Given the description of an element on the screen output the (x, y) to click on. 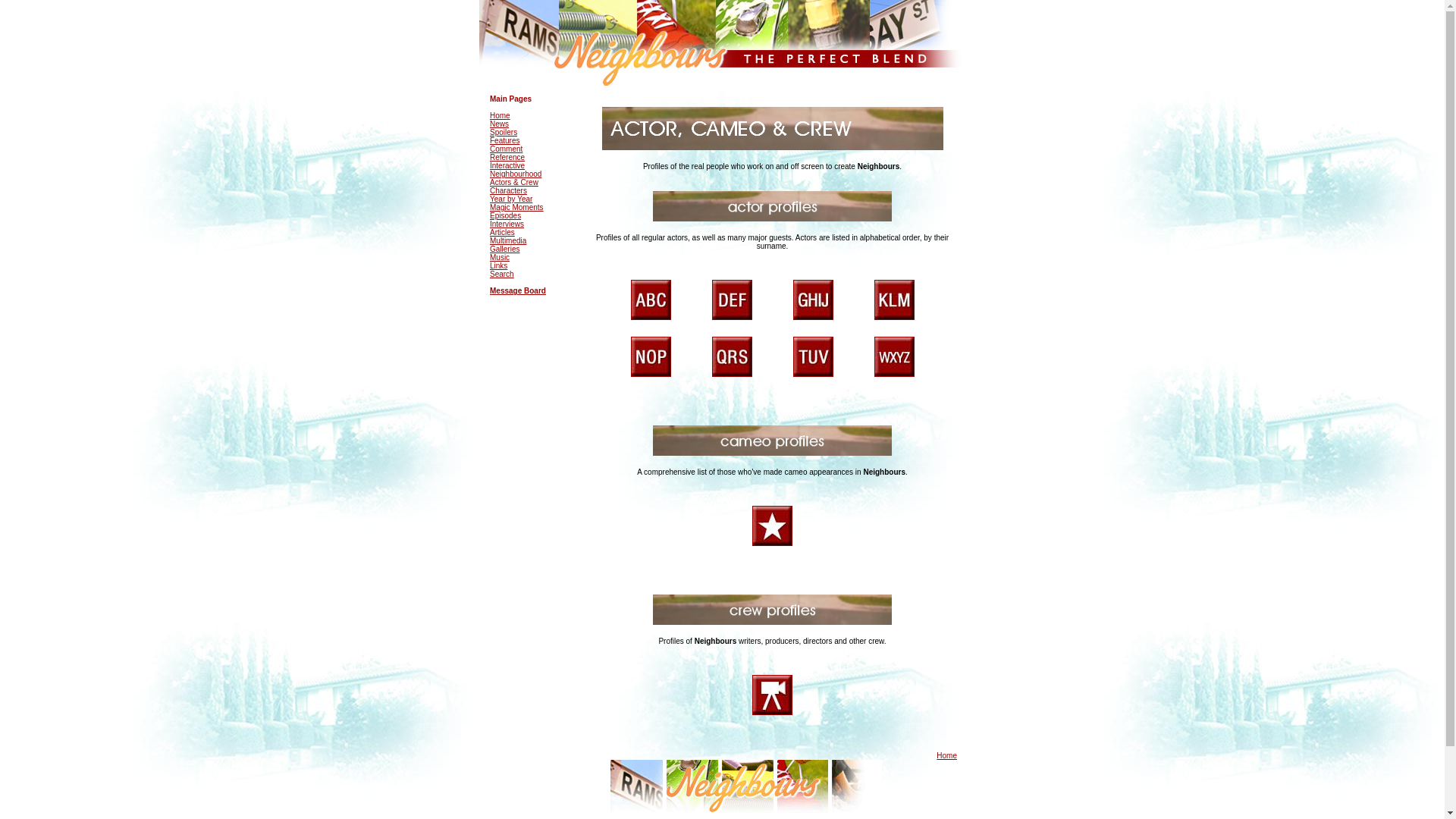
Message Board (517, 290)
Magic Moments (516, 207)
Music (499, 257)
Home (500, 115)
Articles (502, 232)
Search (501, 274)
Spoilers (502, 131)
Multimedia (507, 240)
Features (504, 140)
Interactive (506, 165)
